Given the description of an element on the screen output the (x, y) to click on. 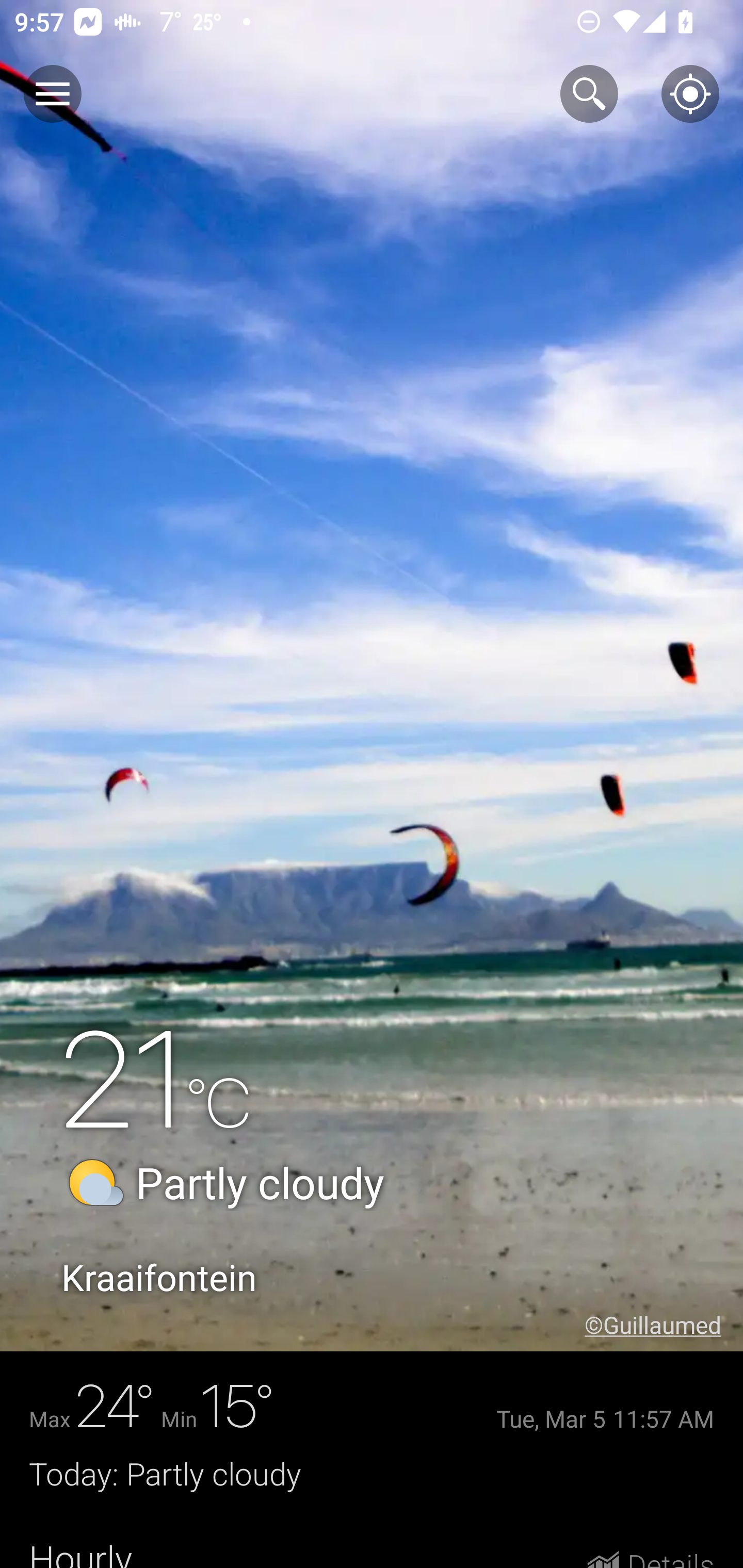
©Guillaumed (663, 1324)
